Given the description of an element on the screen output the (x, y) to click on. 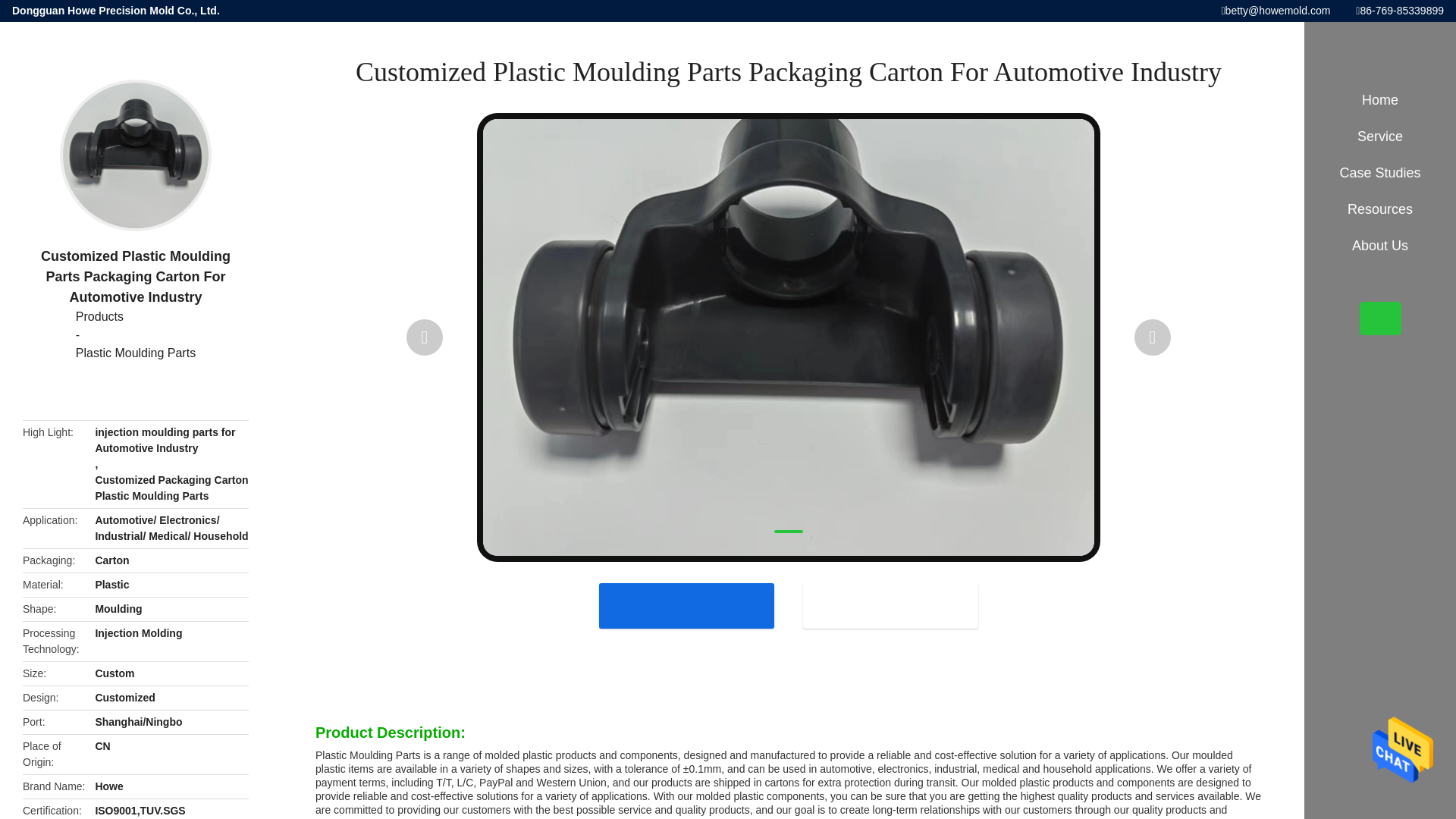
Case Studies (135, 316)
Products (135, 316)
Service (1379, 135)
China Plastic Moulding Parts Manufacturers (135, 352)
Home (1379, 99)
Plastic Moulding Parts (135, 352)
Get Price (685, 605)
Contact Now (889, 605)
